Given the description of an element on the screen output the (x, y) to click on. 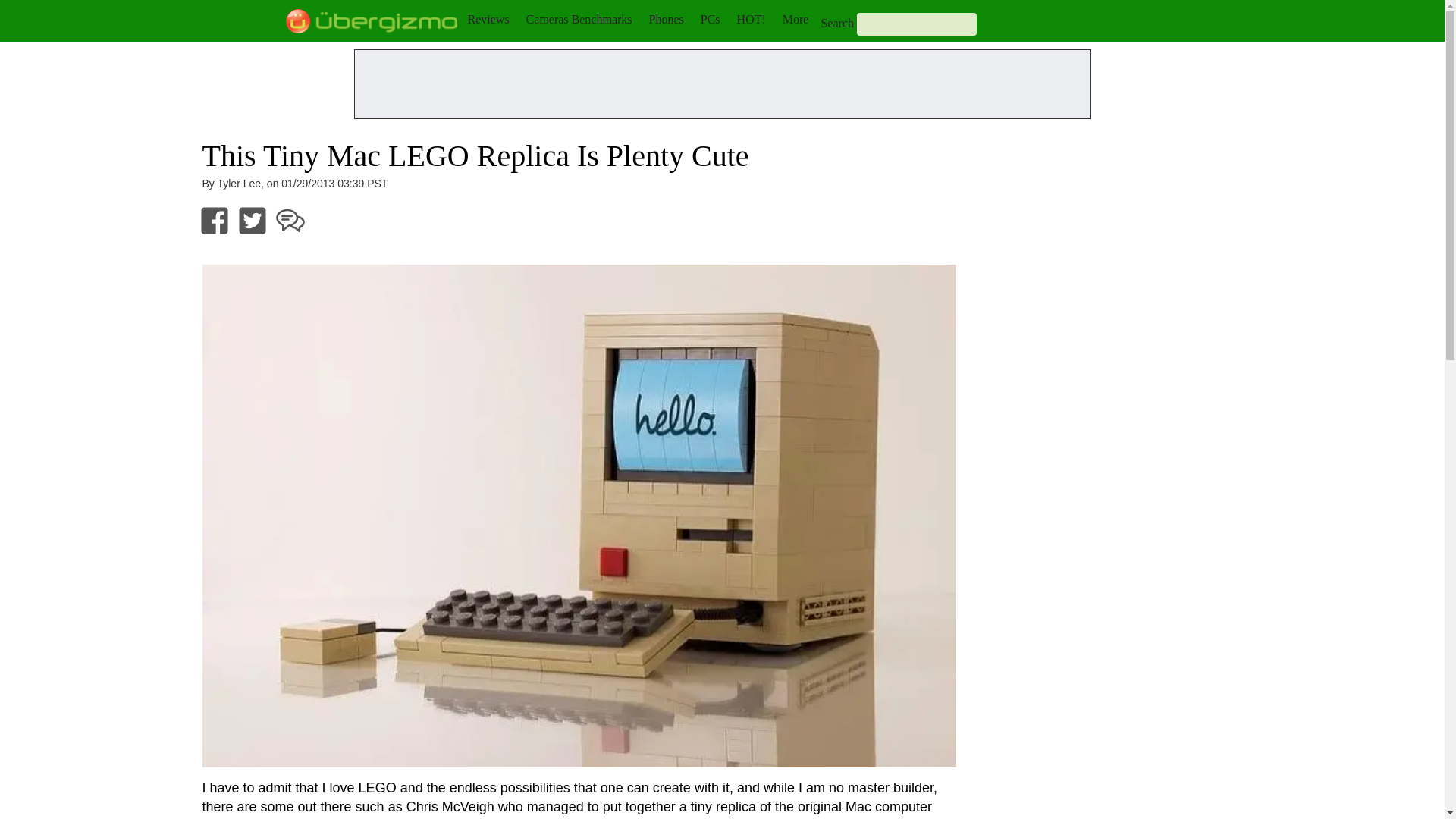
Phones (666, 19)
PCs (710, 19)
Cameras Benchmarks (578, 19)
Reviews (487, 19)
